Given the description of an element on the screen output the (x, y) to click on. 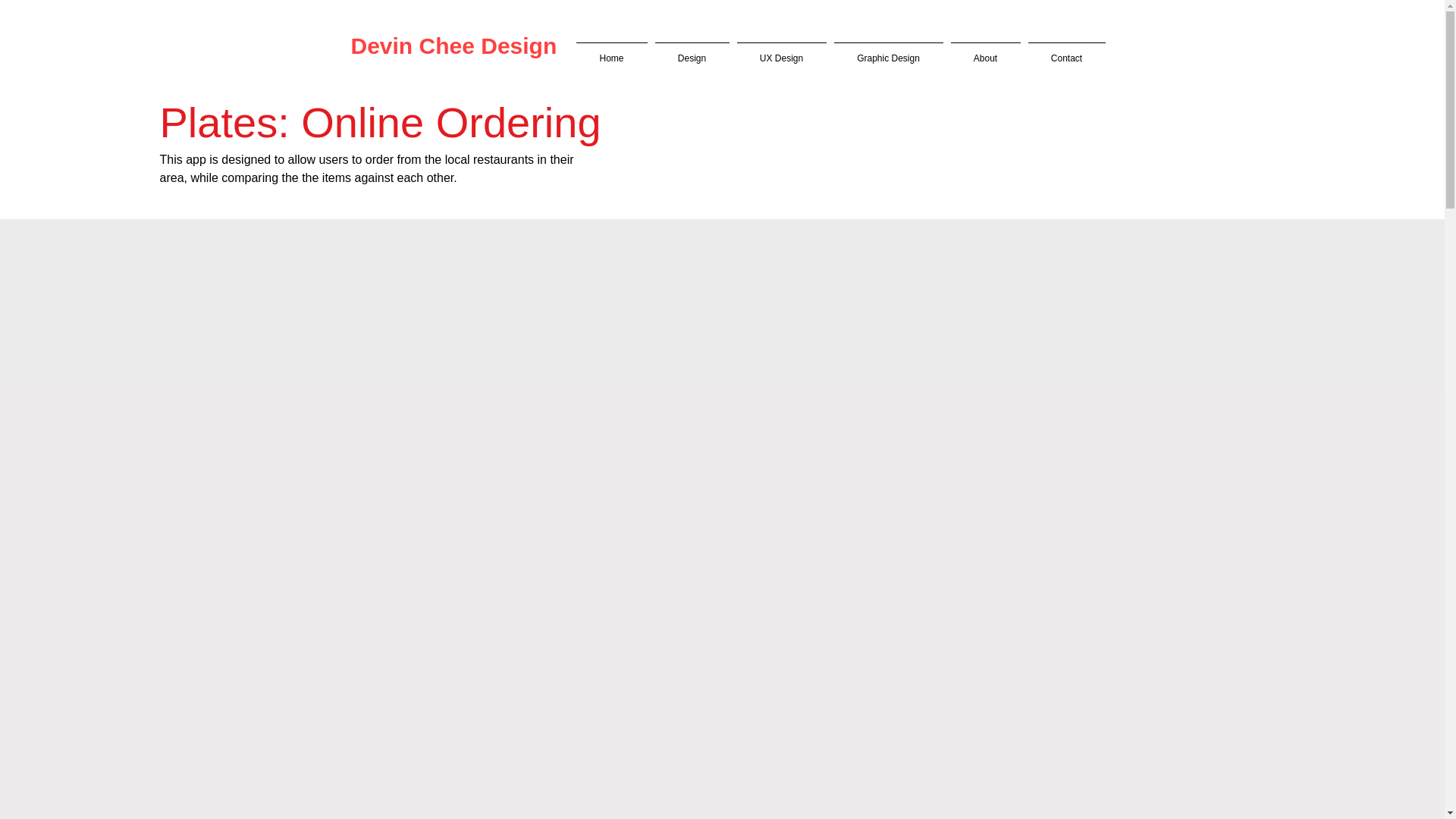
Home (611, 51)
Graphic Design (887, 51)
Plates: Online Ordering (378, 122)
Design (691, 51)
Contact (1065, 51)
About (984, 51)
Devin Chee Design (453, 45)
UX Design (780, 51)
